Given the description of an element on the screen output the (x, y) to click on. 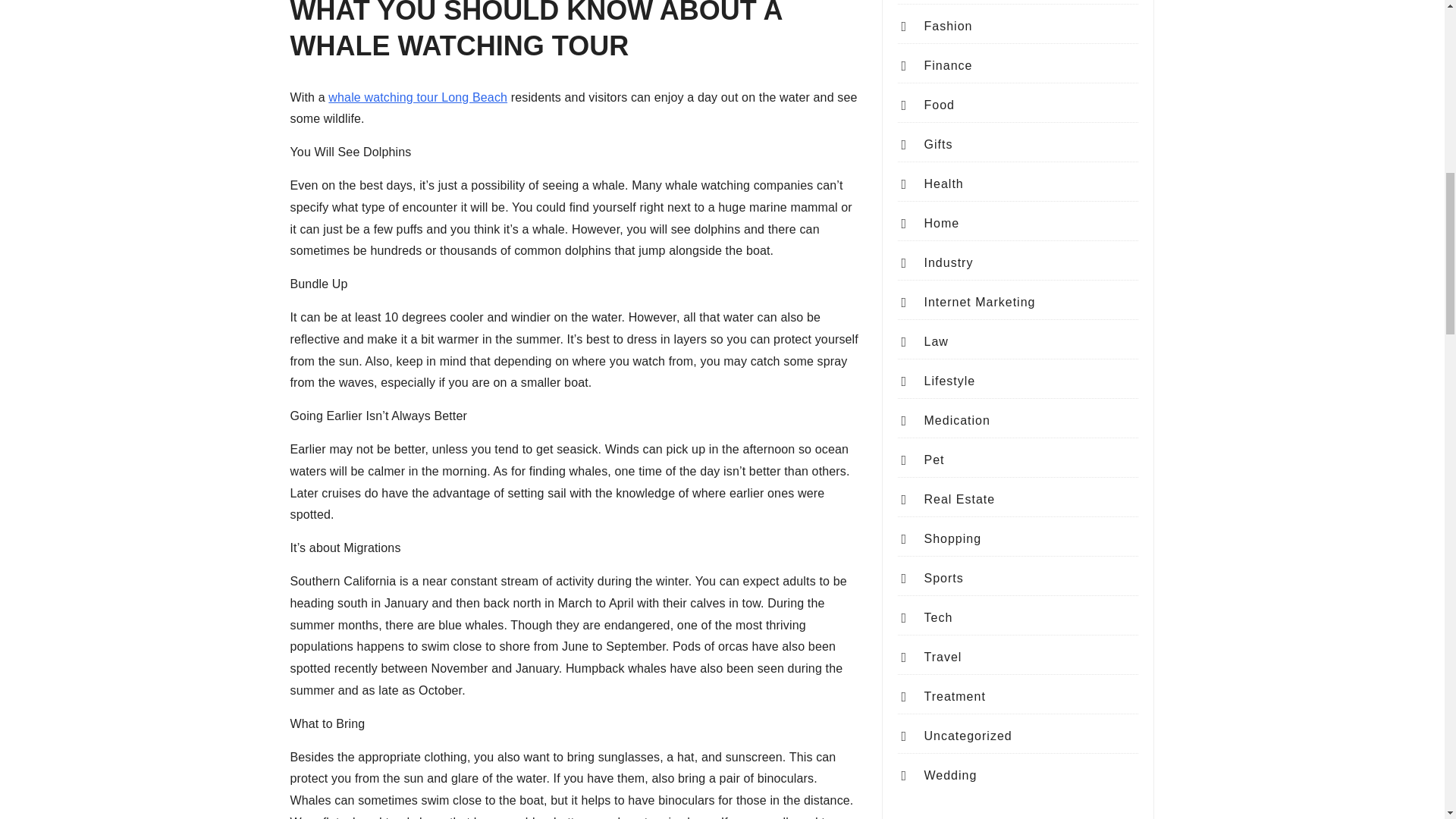
whale watching tour Long Beach (417, 97)
